Given the description of an element on the screen output the (x, y) to click on. 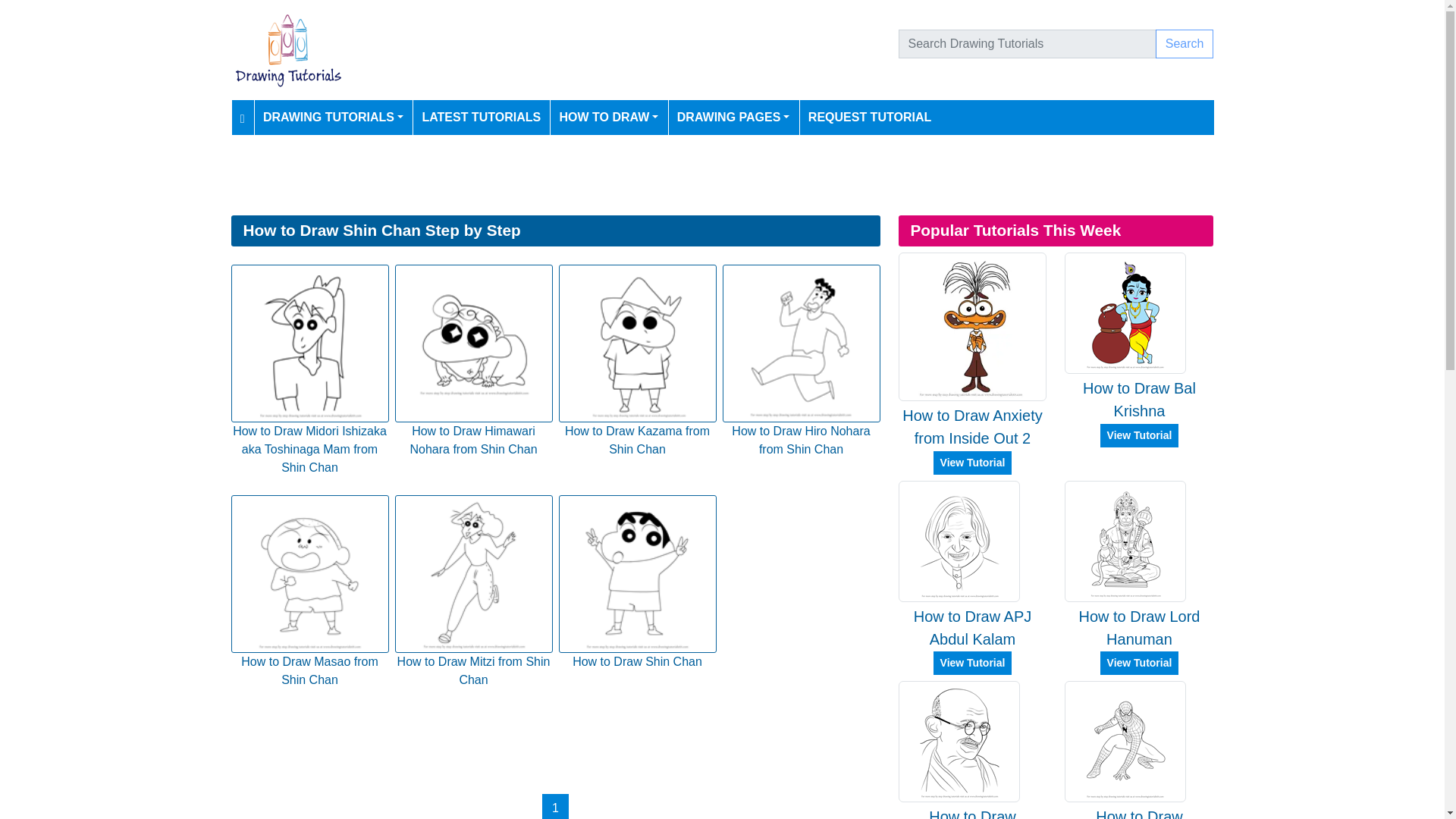
Advertisement (554, 741)
Search (1185, 43)
DRAWING TUTORIALS (333, 117)
HOW TO DRAW (609, 117)
LATEST TUTORIALS (480, 117)
Advertisement (685, 174)
